Given the description of an element on the screen output the (x, y) to click on. 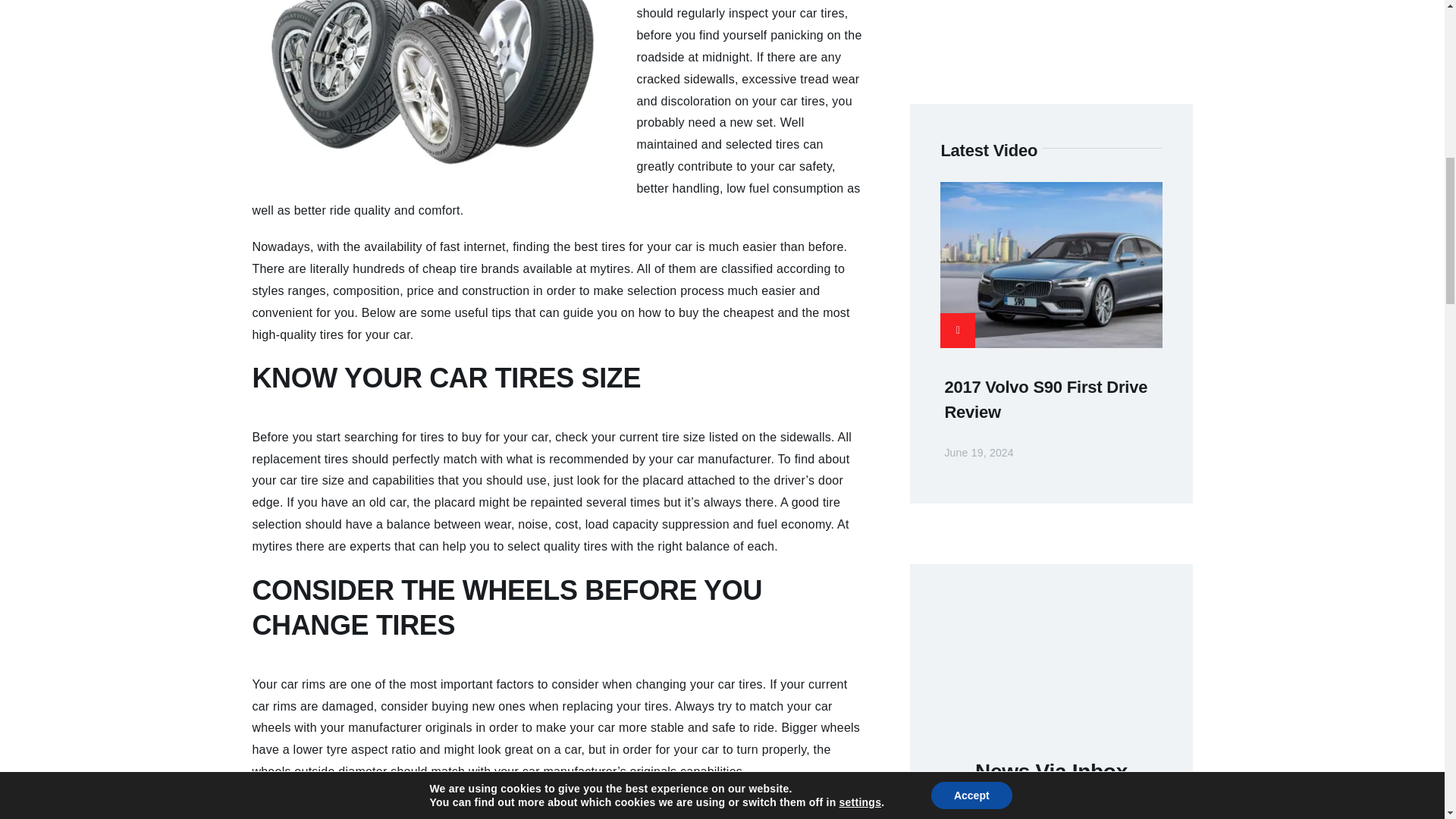
Advertisement (1051, 33)
